Given the description of an element on the screen output the (x, y) to click on. 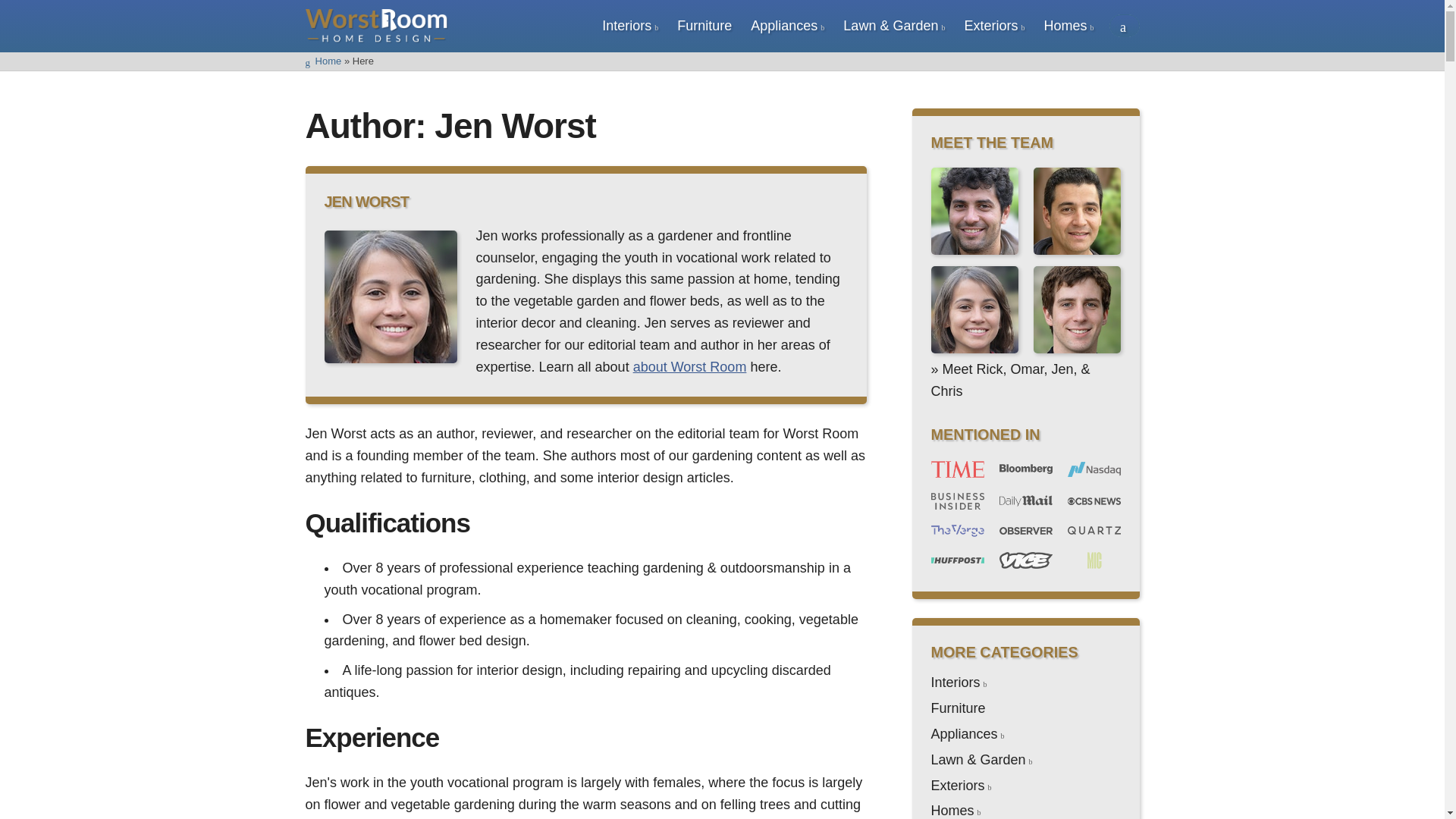
Home (322, 60)
Furniture (704, 25)
Exteriors (990, 25)
Appliances (783, 25)
Homes (1064, 25)
Interiors (626, 25)
about Worst Room (689, 366)
